Given the description of an element on the screen output the (x, y) to click on. 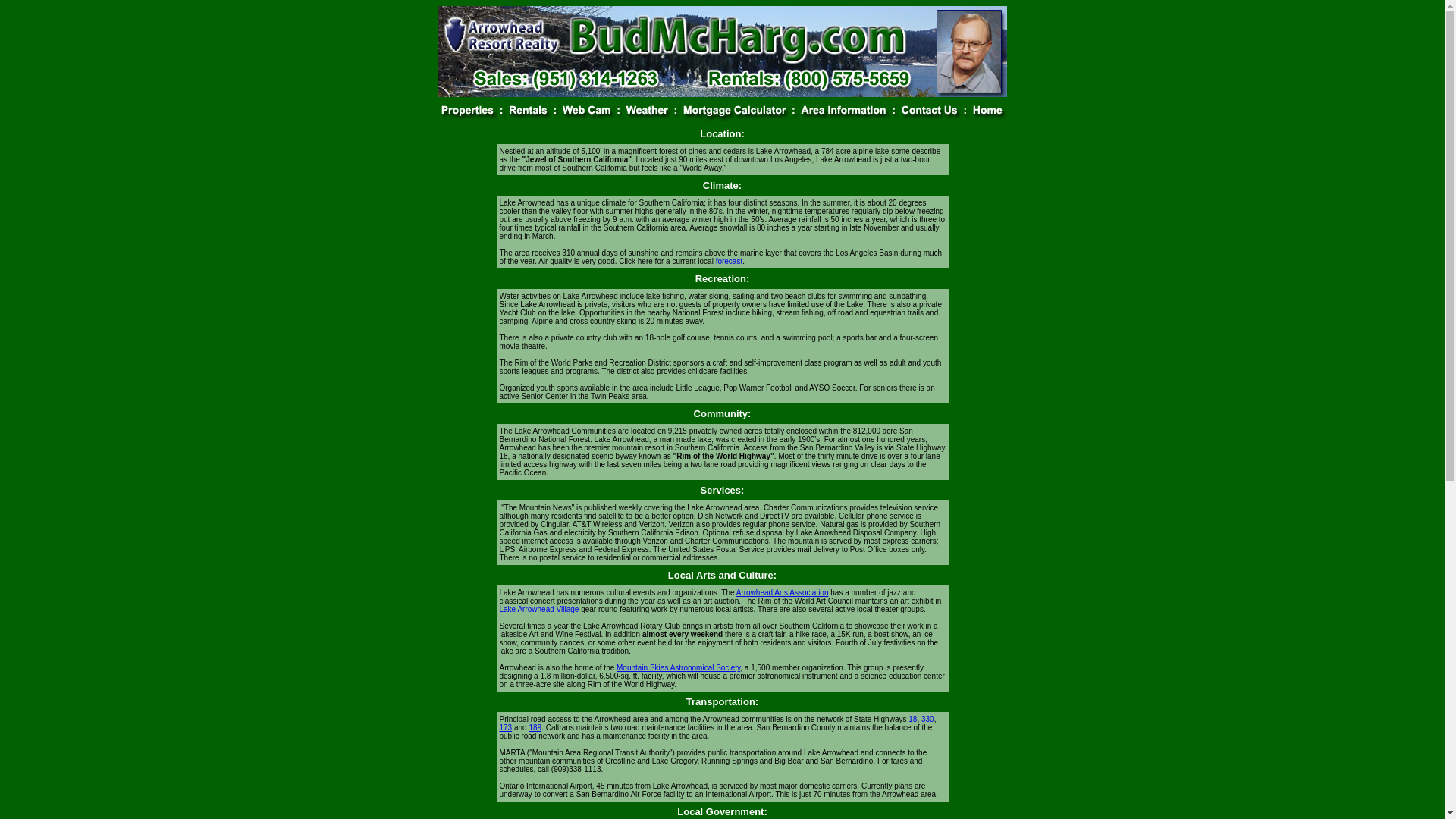
189 (534, 727)
Mountain Skies Astronomical Society (677, 667)
Lake Arrowhead Village (538, 609)
18 (912, 718)
forecast (729, 261)
Arrowhead Arts Association (782, 592)
173 (505, 727)
330 (927, 718)
